Given the description of an element on the screen output the (x, y) to click on. 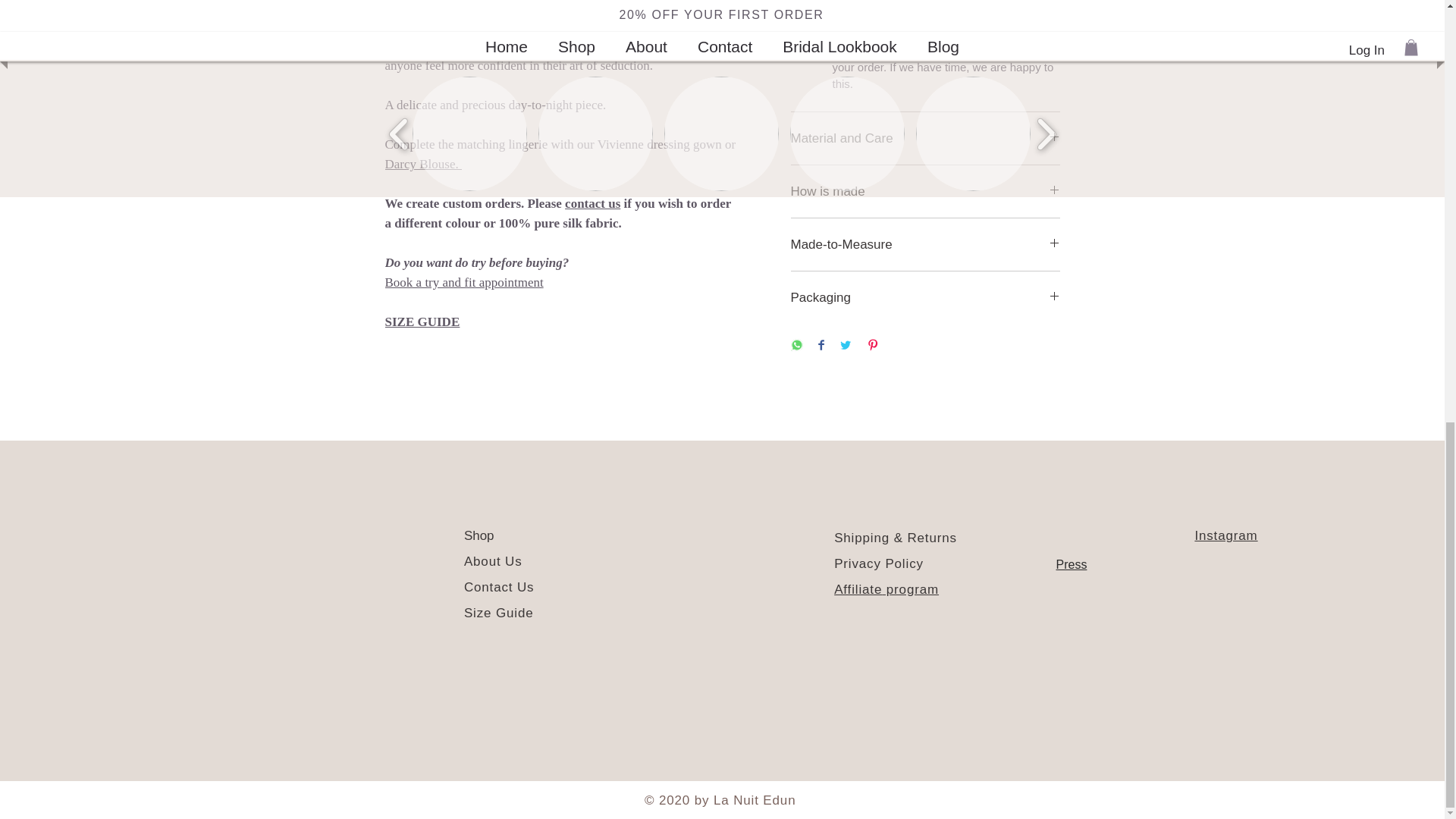
Material and Care (924, 138)
Shop (479, 535)
Book a try and fit appointment (464, 282)
Made-to-Measure (924, 244)
contact us (592, 203)
Darcy Blouse.  (424, 164)
SIZE GUIDE (422, 321)
How is made (924, 191)
Packaging (924, 297)
